Given the description of an element on the screen output the (x, y) to click on. 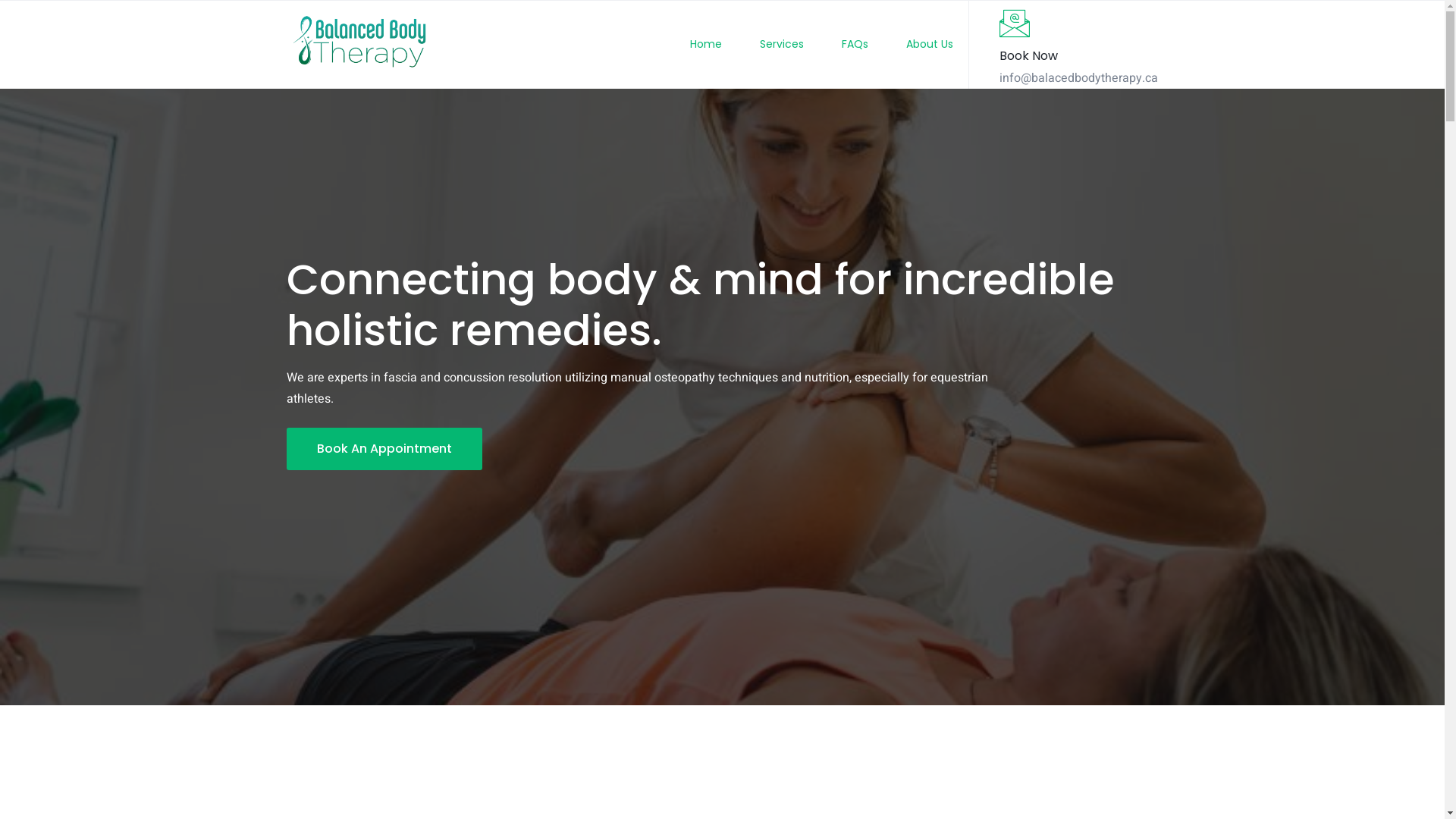
Home Element type: text (686, 44)
About Us Element type: text (910, 44)
Services Element type: text (762, 44)
FAQs Element type: text (835, 44)
Book An Appointment Element type: text (384, 448)
